Given the description of an element on the screen output the (x, y) to click on. 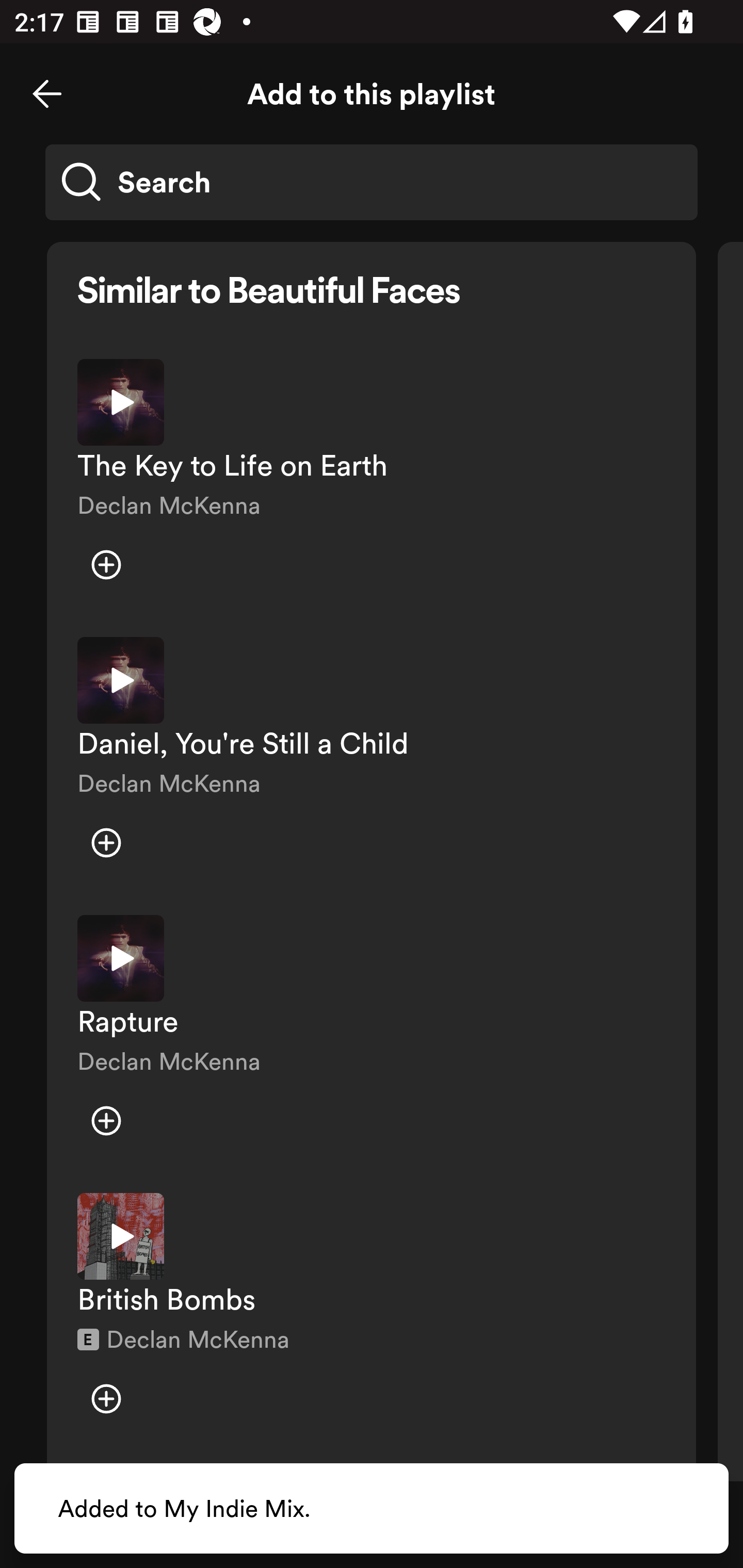
Close (46, 93)
Search (371, 181)
Play preview (120, 402)
Add item (106, 565)
Play preview (120, 680)
Add item (106, 842)
Play preview Rapture Declan McKenna Add item (371, 1039)
Play preview (120, 958)
Add item (106, 1120)
Play preview (120, 1236)
Add item (106, 1398)
